Given the description of an element on the screen output the (x, y) to click on. 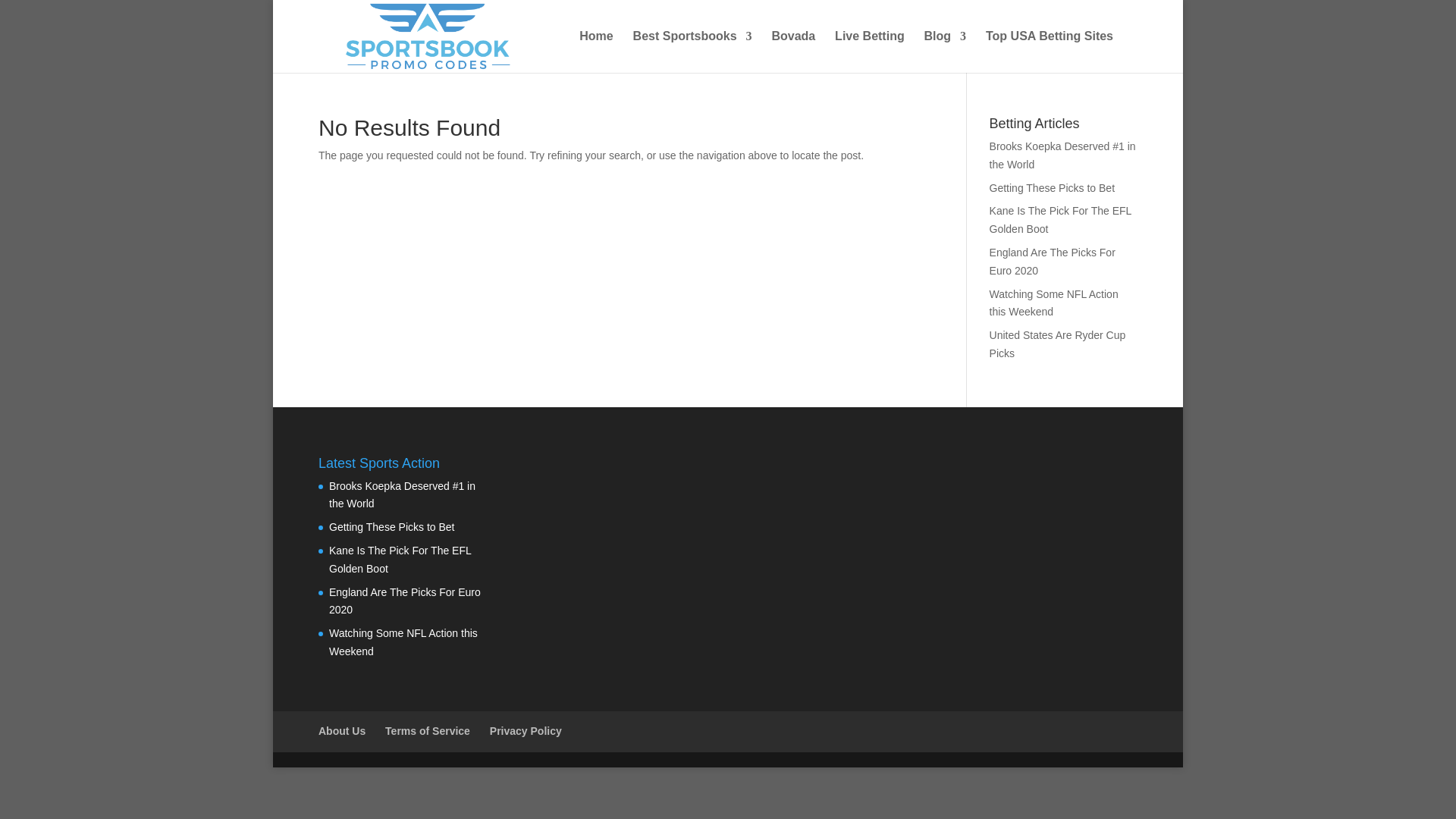
Blog (945, 51)
Best Sportsbooks (692, 51)
Watching Some NFL Action this Weekend (1054, 303)
England Are The Picks For Euro 2020 (1052, 261)
United States Are Ryder Cup Picks (1057, 344)
Getting These Picks to Bet (1052, 187)
Bovada (793, 51)
Top USA Betting Sites (1049, 51)
Live Betting (869, 51)
Kane Is The Pick For The EFL Golden Boot (1060, 219)
